Given the description of an element on the screen output the (x, y) to click on. 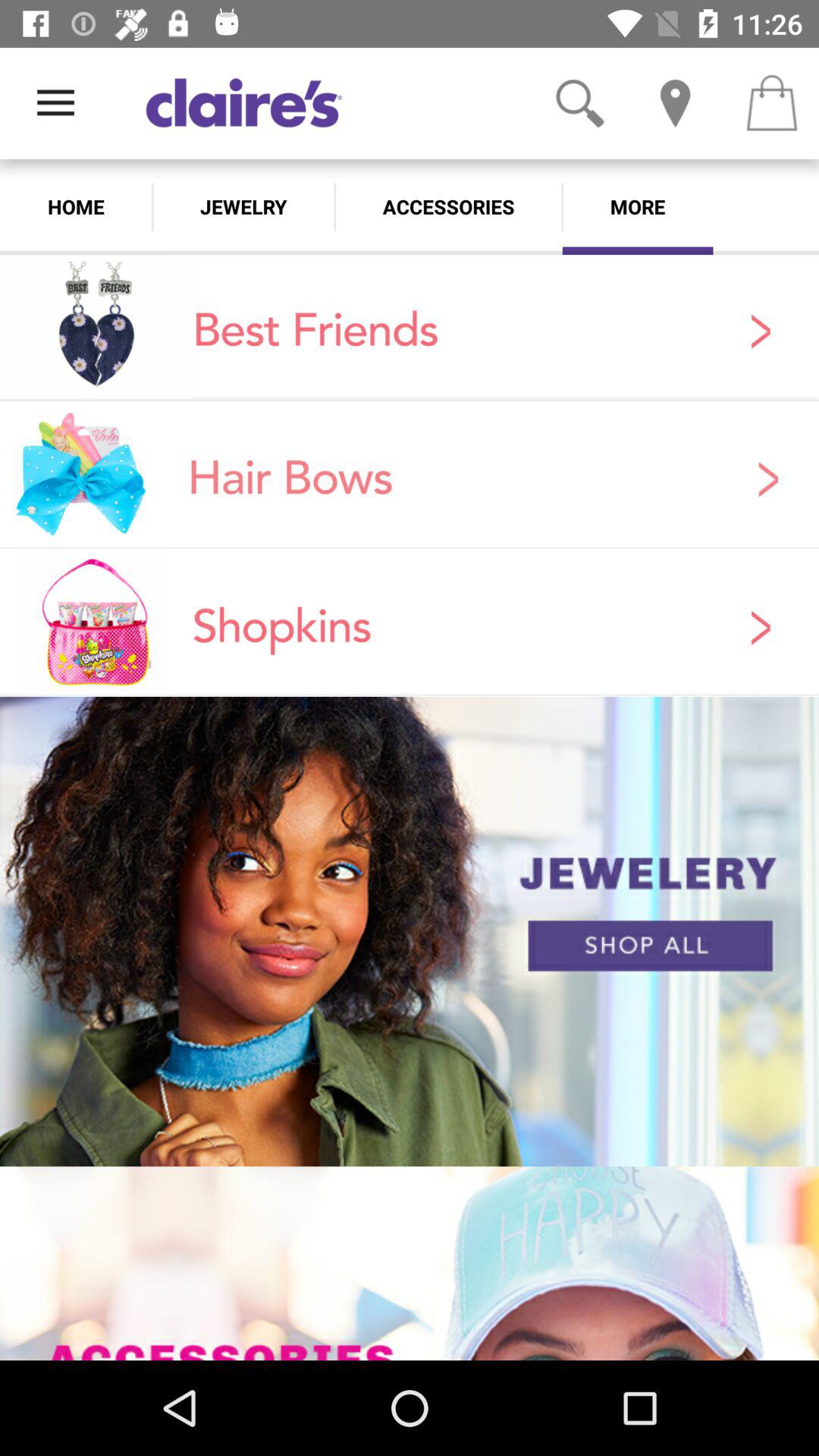
press the app next to jewelry (76, 206)
